Given the description of an element on the screen output the (x, y) to click on. 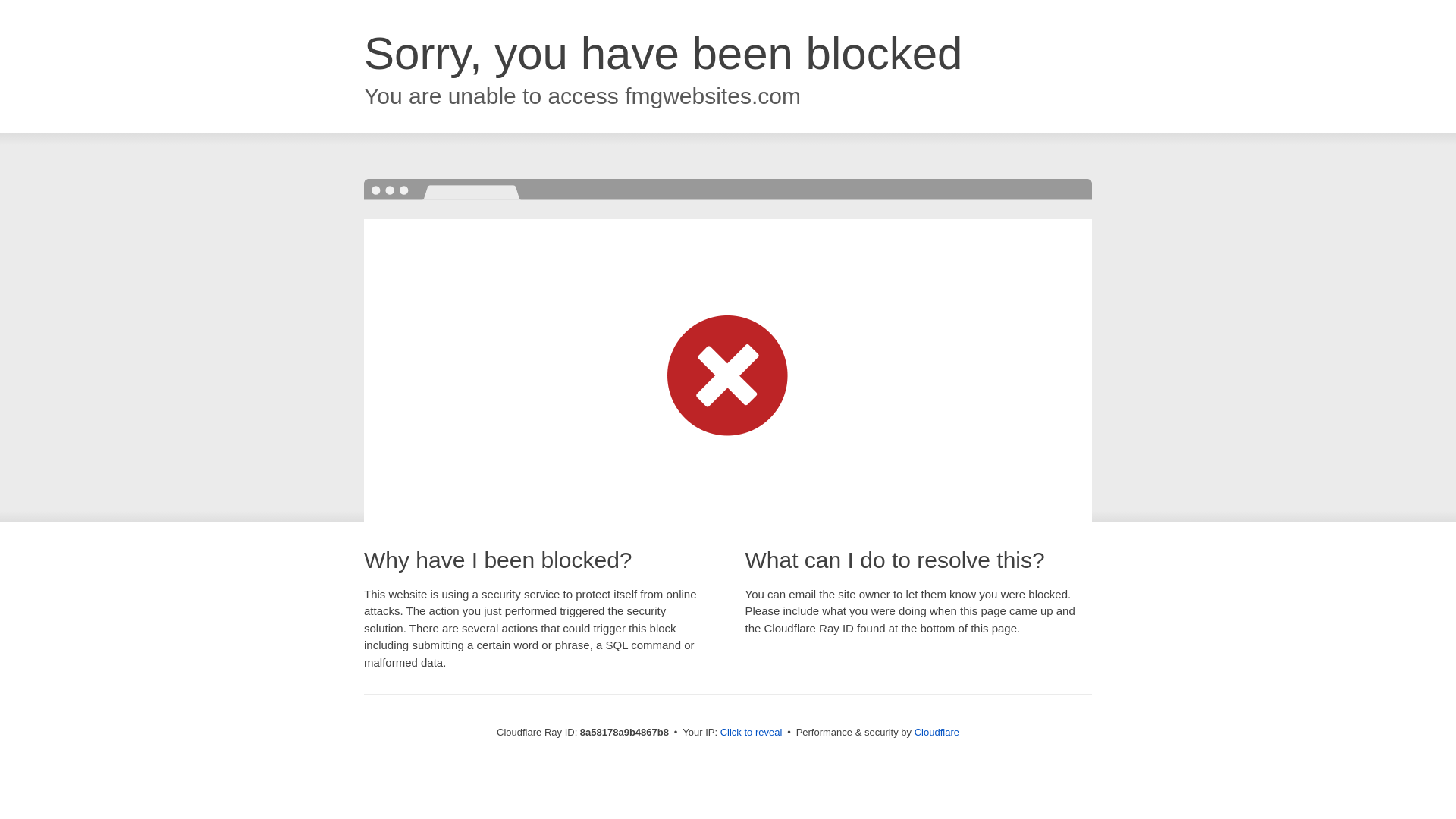
Cloudflare (936, 731)
Click to reveal (751, 732)
